Given the description of an element on the screen output the (x, y) to click on. 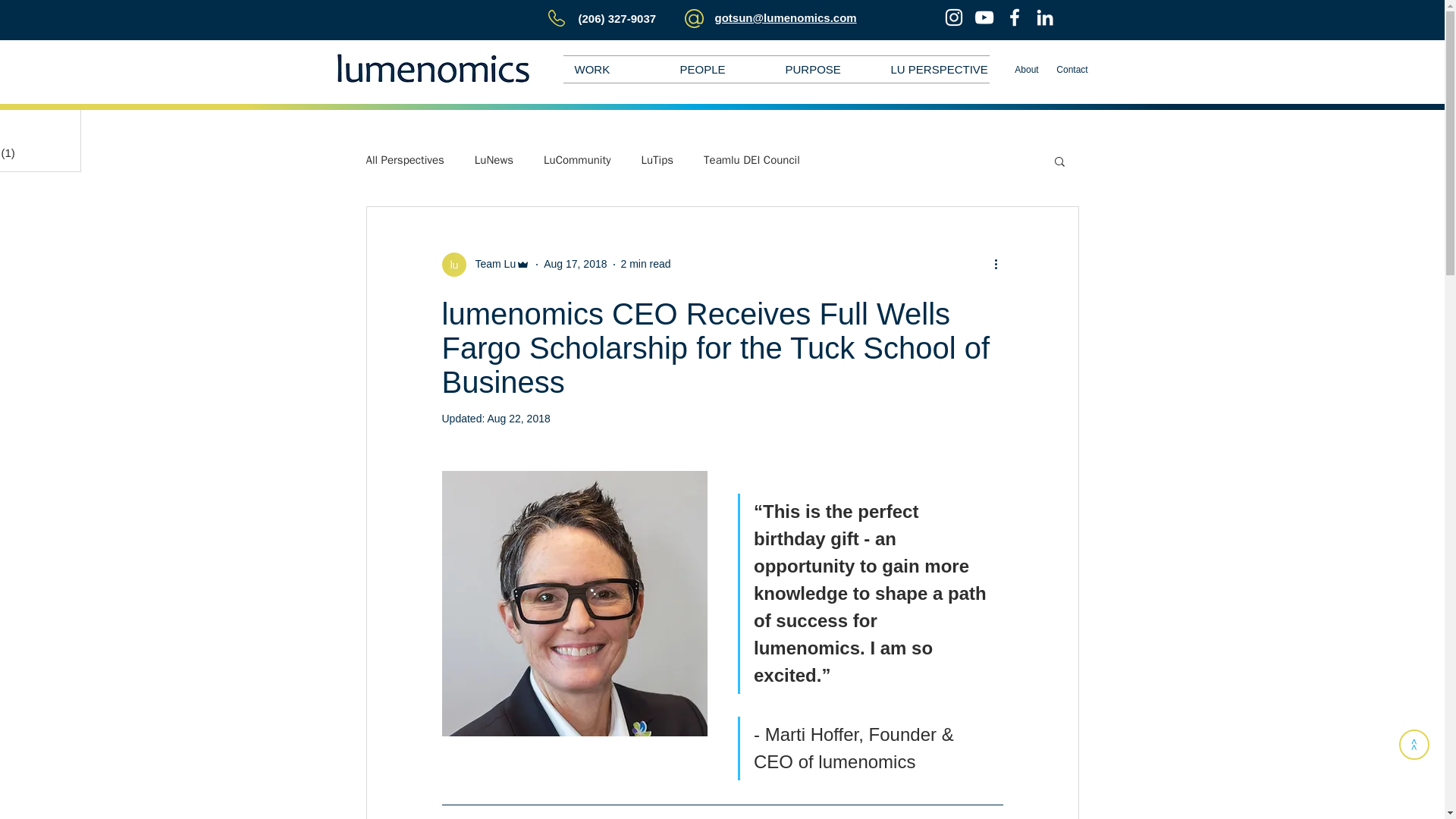
Contact (1072, 69)
LuTips (658, 160)
Aug 17, 2018 (575, 263)
All Perspectives (404, 160)
LuCommunity (576, 160)
About (1026, 69)
LuNews (493, 160)
Team Lu (490, 263)
Teamlu DEI Council (751, 160)
2 min read (644, 263)
